Given the description of an element on the screen output the (x, y) to click on. 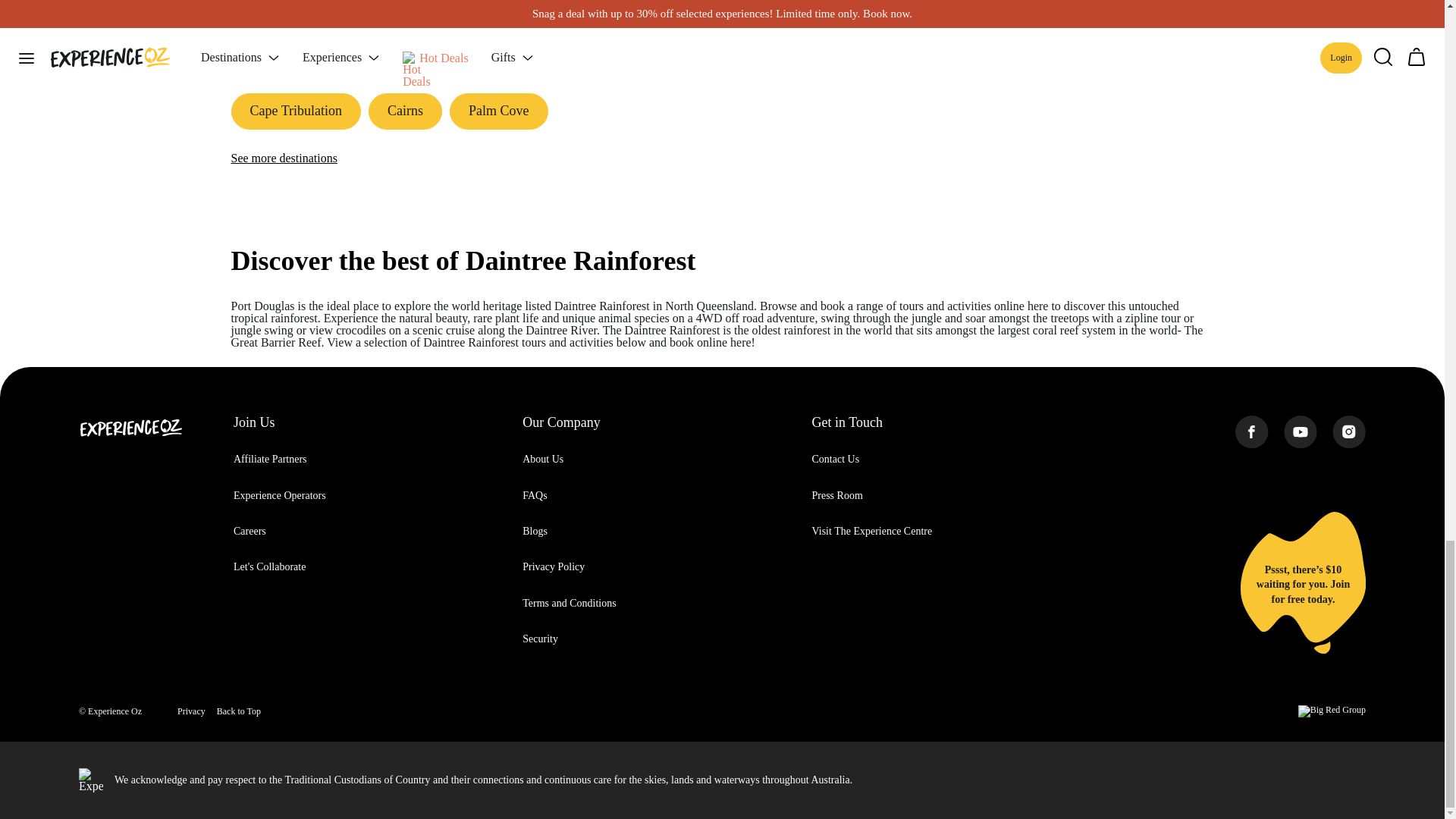
View all daintree rainforest tours (1122, 20)
FAQs (534, 495)
Careers (249, 531)
Queensland (297, 52)
Cape Tribulation (295, 111)
Terms and Conditions (568, 603)
Blogs (534, 531)
Cairns (405, 111)
See more destinations (283, 157)
Palm Cove (498, 111)
